Given the description of an element on the screen output the (x, y) to click on. 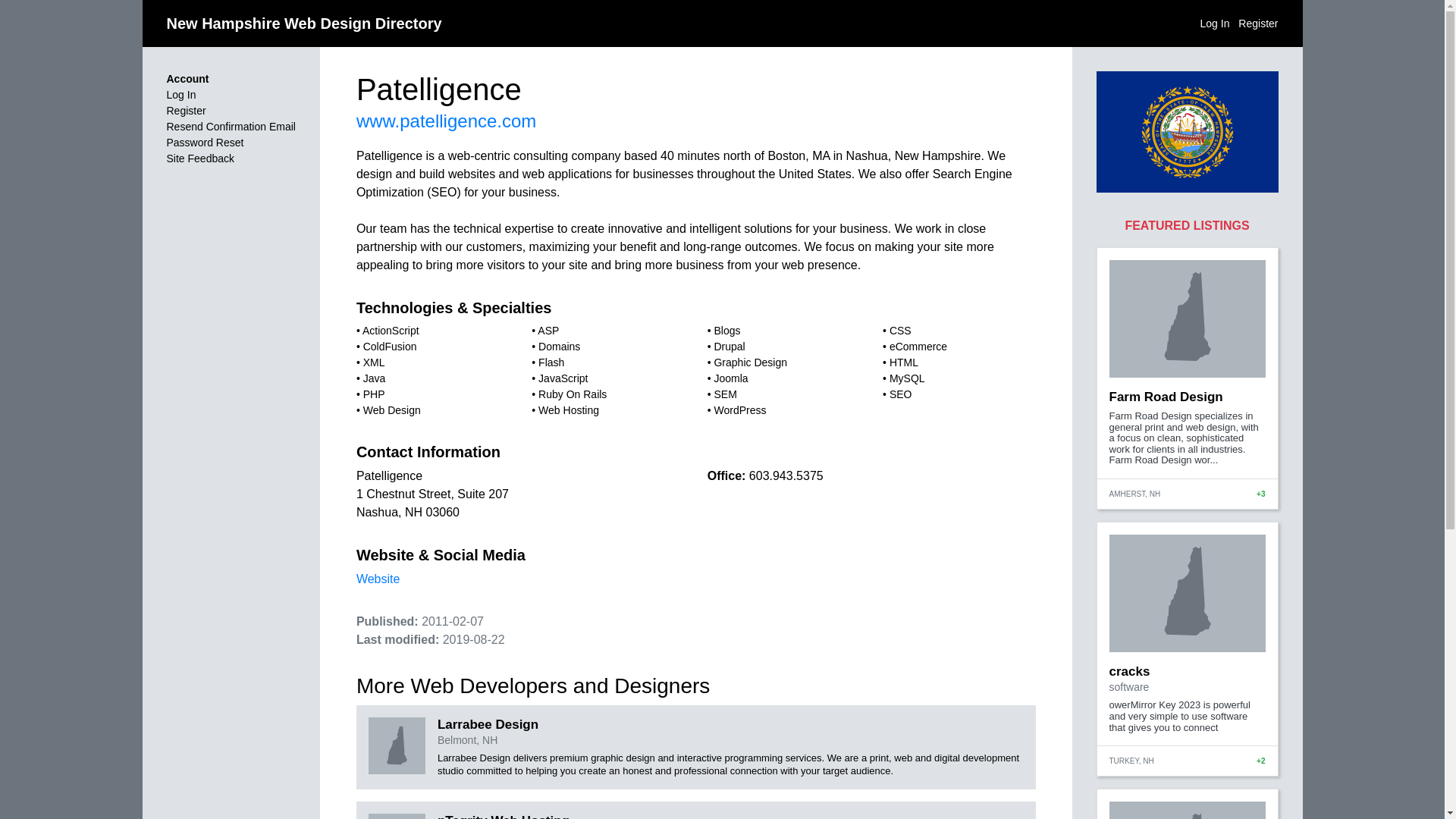
SEO (900, 394)
Larrabee Design (488, 724)
Web Design (391, 410)
603.943.5375 (786, 475)
eCommerce (918, 346)
Domains (558, 346)
ActionScript (390, 330)
PHP (373, 394)
Register (1258, 22)
Website (378, 578)
